Given the description of an element on the screen output the (x, y) to click on. 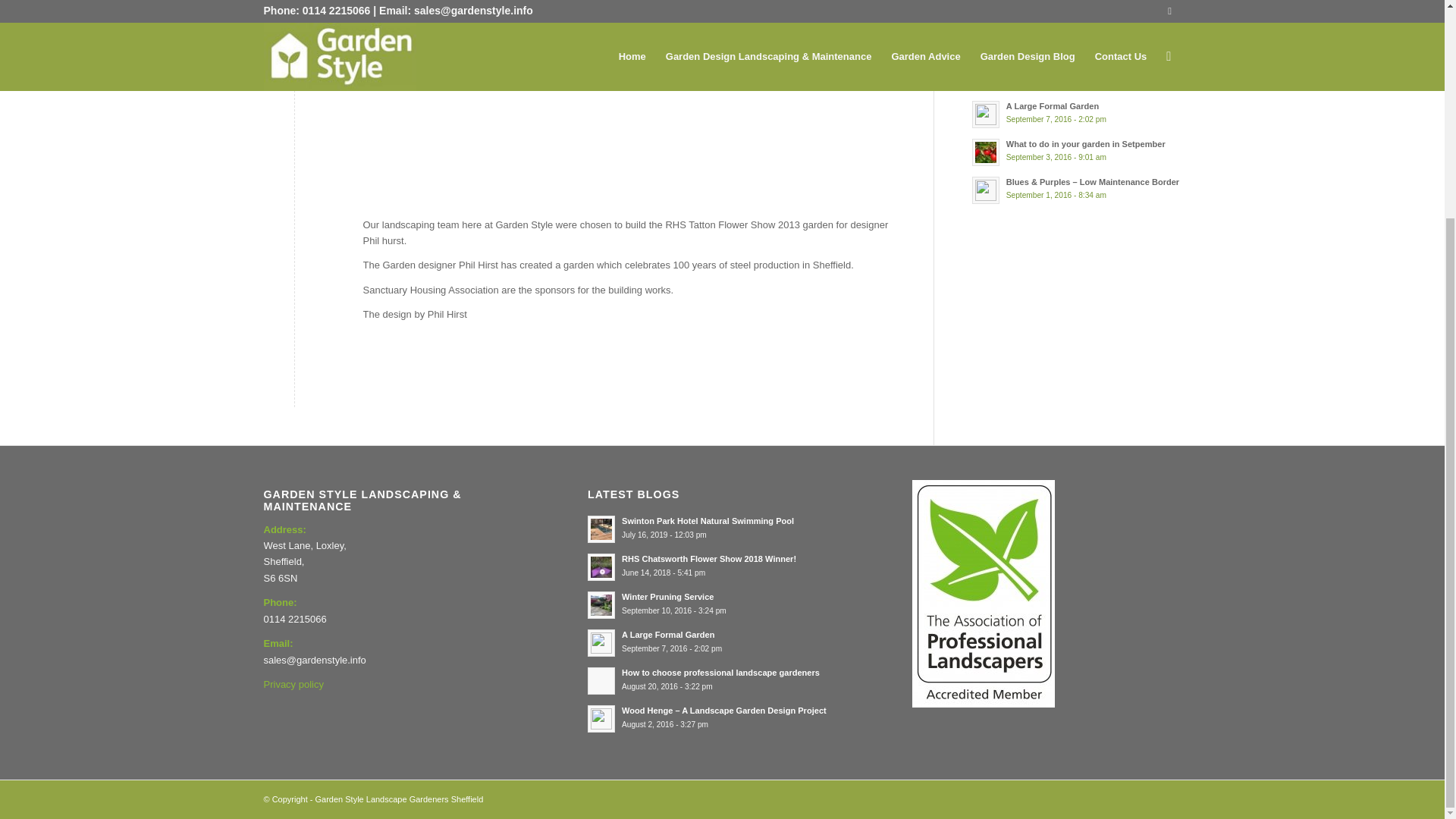
A Large Formal Garden (1052, 105)
Winter Pruning Service (1051, 67)
Privacy policy (293, 684)
Read: Swinton Park Hotel Natural Swimming Pool (985, 7)
Swinton Park Hotel Natural Swimming Pool (707, 520)
RHS Chatsworth Flower Show 2018 Winner! (1093, 30)
What to do in your garden in Setpember (1086, 143)
Read: RHS Chatsworth Flower Show 2018 Winner! (1093, 30)
Read: A Large Formal Garden (985, 113)
Read: RHS Chatsworth Flower Show 2018 Winner! (985, 38)
